Given the description of an element on the screen output the (x, y) to click on. 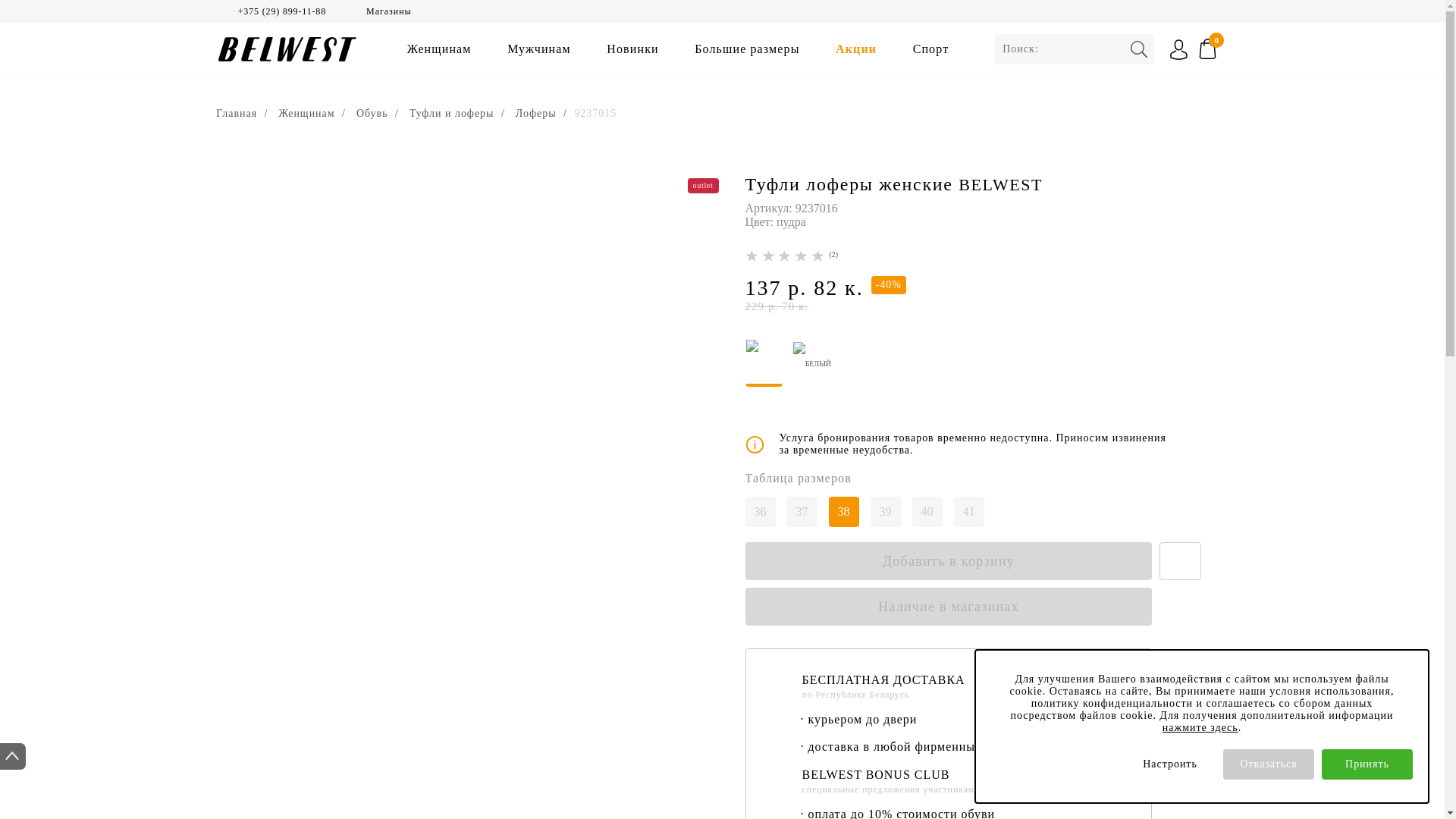
41 Element type: text (968, 511)
36 Element type: text (759, 511)
0 Element type: text (1212, 49)
39 Element type: text (885, 511)
40 Element type: text (926, 511)
37 Element type: text (802, 511)
38 Element type: text (843, 511)
BELWEST Element type: text (1000, 184)
+375 (29) 899-11-88 Element type: text (282, 11)
